Given the description of an element on the screen output the (x, y) to click on. 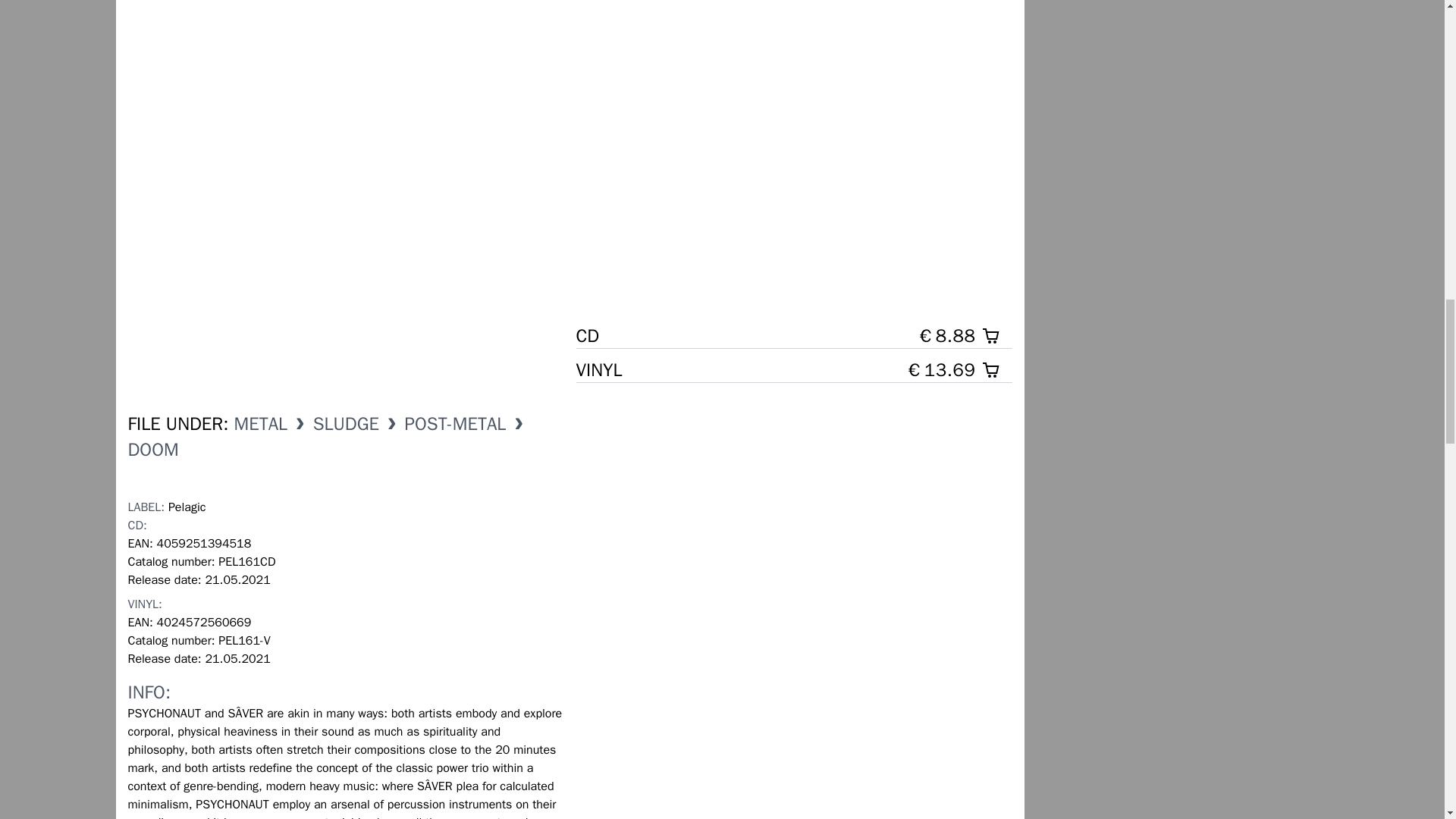
POST-METAL (455, 423)
METAL (261, 423)
DOOM (152, 449)
Pelagic (187, 506)
SLUDGE (345, 423)
